Given the description of an element on the screen output the (x, y) to click on. 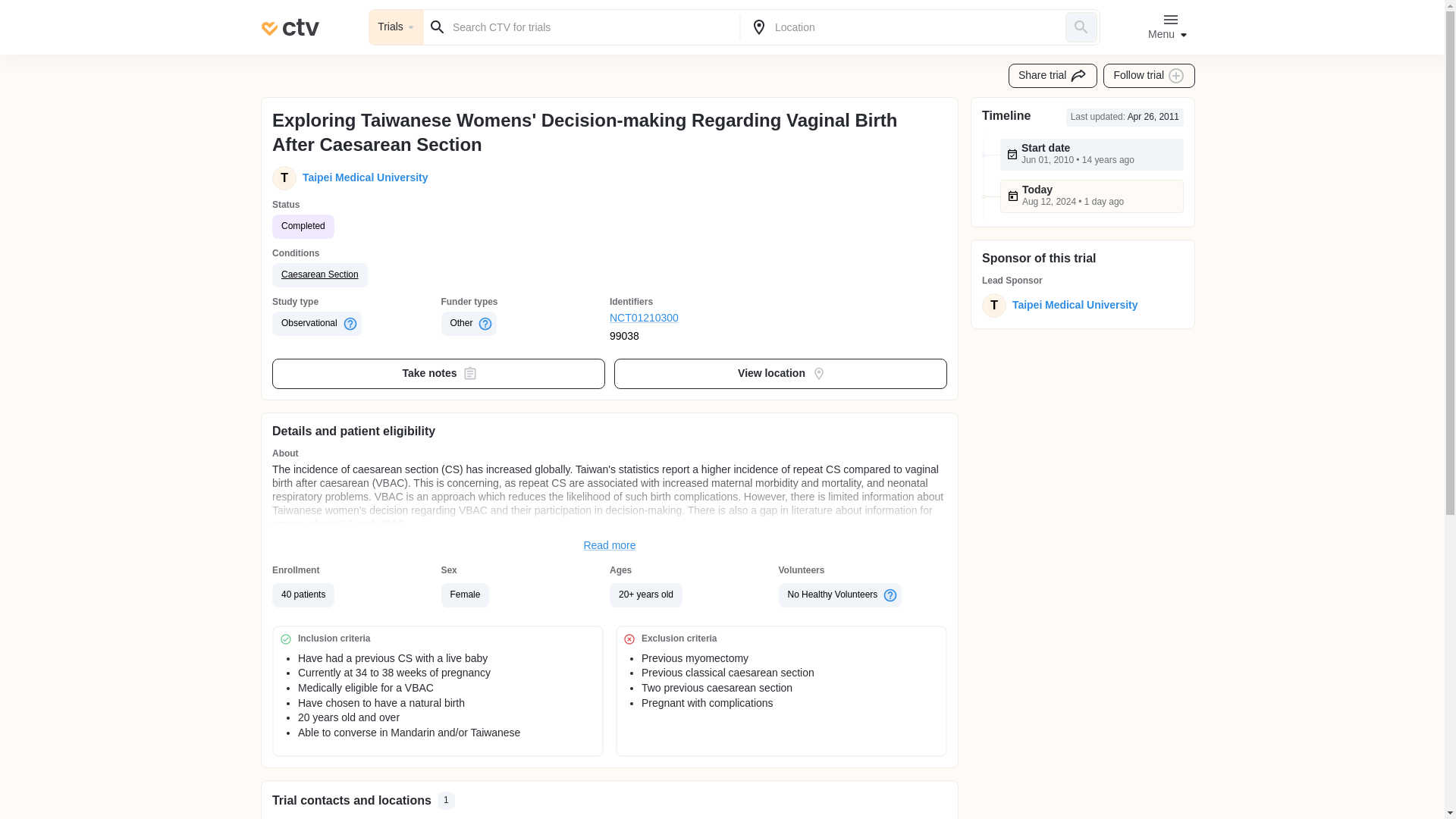
Follow trial (1149, 75)
Taipei Medical University (1072, 305)
Take notes (438, 373)
Taipei Medical University (362, 178)
Read more (609, 545)
Share trial (1053, 75)
NCT01210300 (694, 318)
View location (780, 373)
Trials (396, 27)
